Given the description of an element on the screen output the (x, y) to click on. 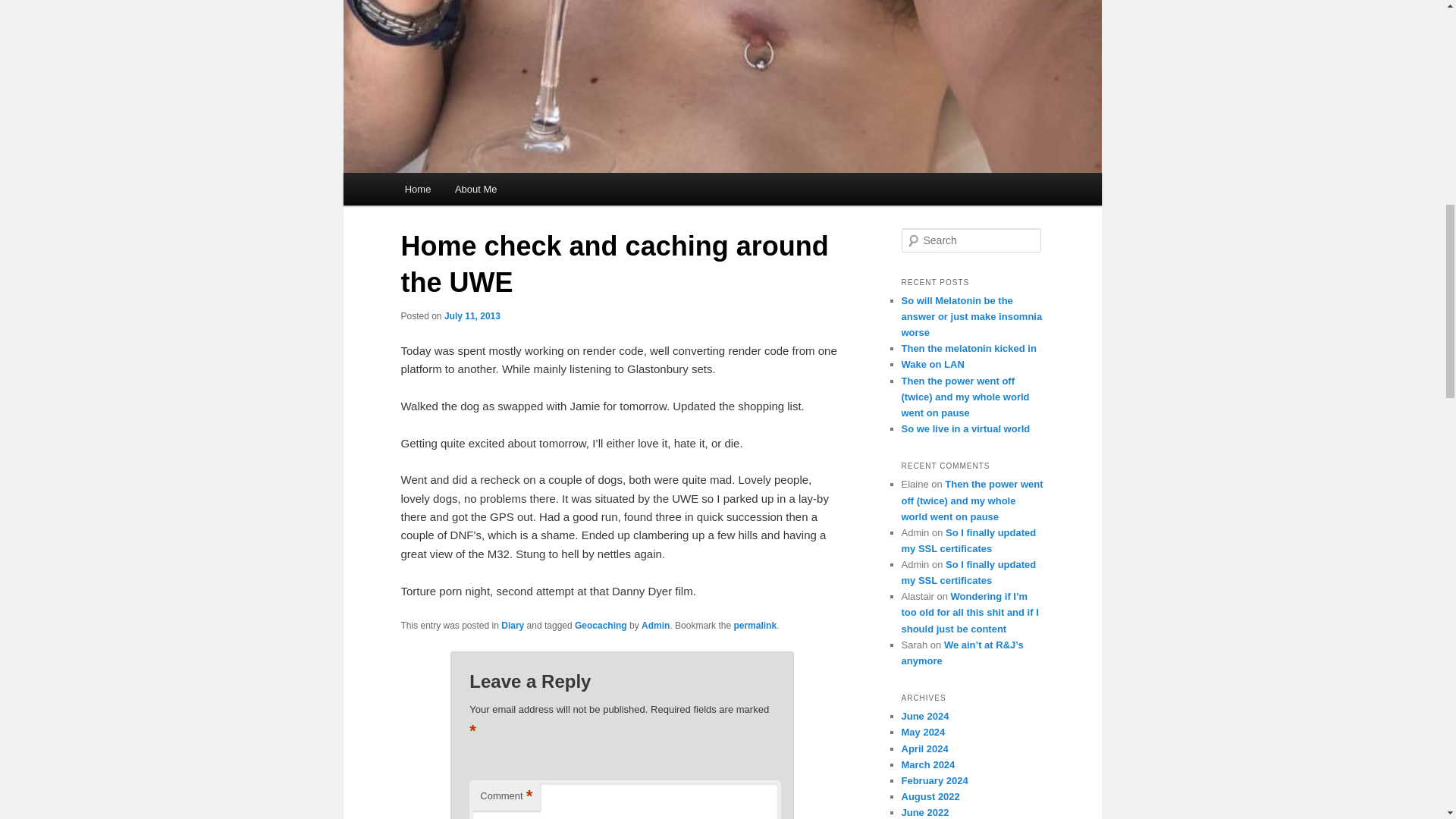
February 2024 (934, 780)
So I finally updated my SSL certificates (968, 572)
10:48 pm (472, 316)
permalink (754, 624)
So I finally updated my SSL certificates (968, 540)
So we live in a virtual world (965, 428)
Admin (655, 624)
August 2022 (930, 796)
Home (417, 188)
About Me (475, 188)
